Given the description of an element on the screen output the (x, y) to click on. 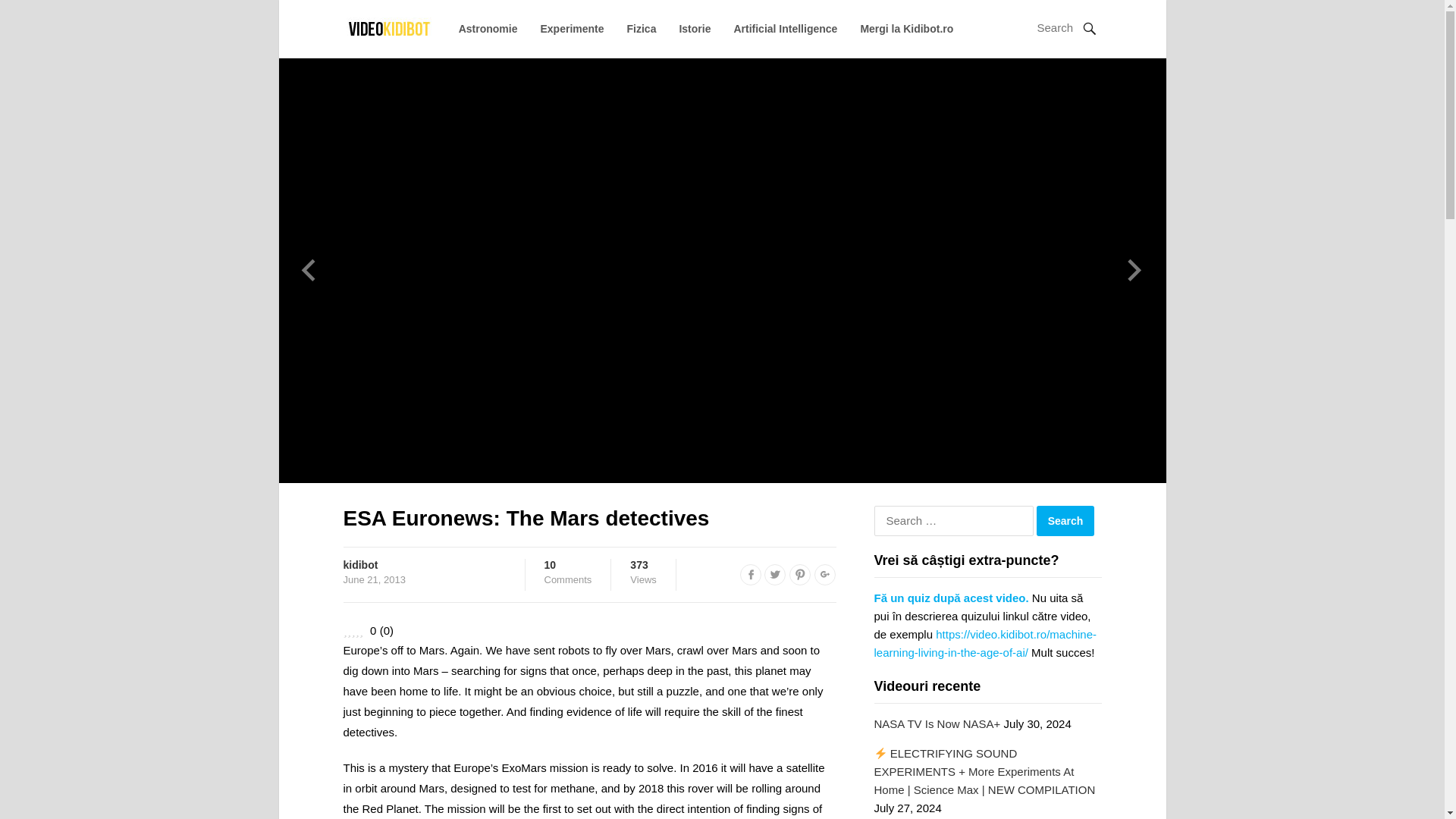
Search (1065, 521)
Share on Pinterest (799, 574)
Artificial Intelligence (785, 28)
Experimente (572, 28)
Posts by kidibot (359, 564)
Astronomie (488, 28)
Search (1065, 521)
Share on Twitter (775, 574)
Mergi la Kidibot.ro (906, 28)
kidibot (568, 572)
Share on Facebook (359, 564)
